Given the description of an element on the screen output the (x, y) to click on. 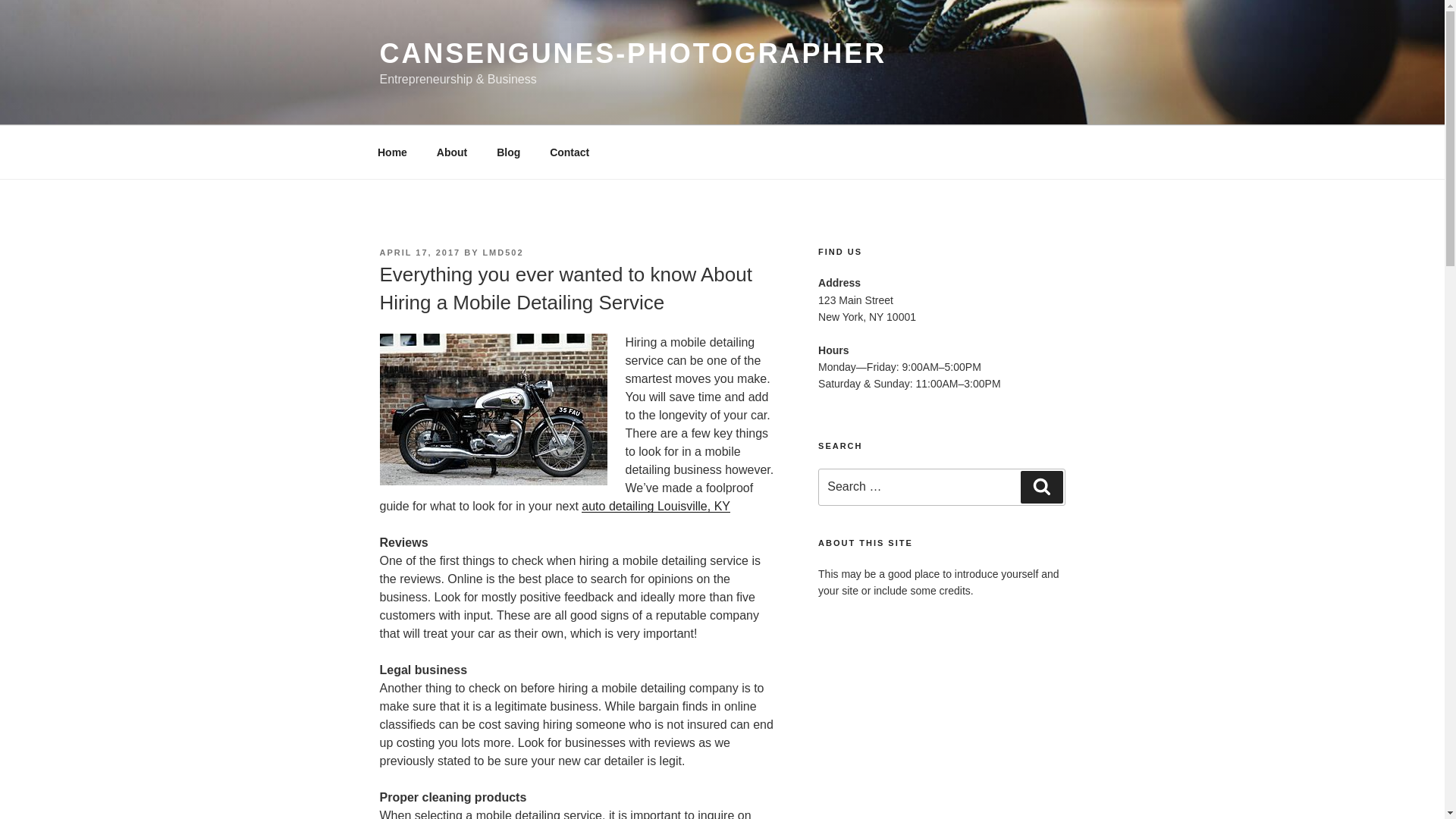
Home (392, 151)
auto detailing Louisville, KY (655, 505)
Search (1041, 486)
Contact (569, 151)
LMD502 (501, 252)
APRIL 17, 2017 (419, 252)
CANSENGUNES-PHOTOGRAPHER (632, 52)
About (451, 151)
Blog (508, 151)
